Given the description of an element on the screen output the (x, y) to click on. 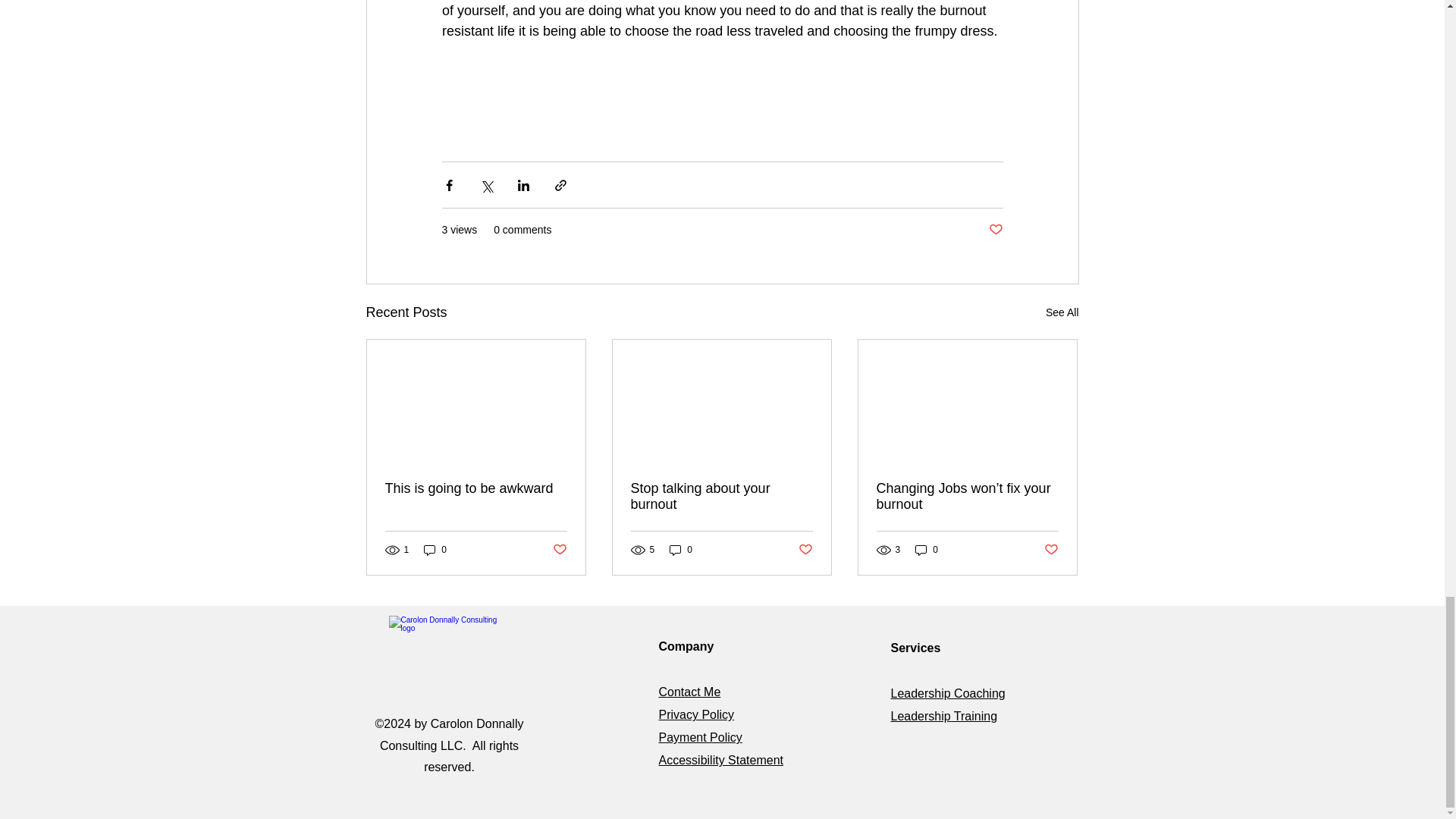
Leadership Training (943, 716)
0 (926, 549)
0 (435, 549)
Privacy Policy (695, 714)
Leadership Coaching (946, 693)
Post not marked as liked (558, 549)
0 (681, 549)
Contact Me (689, 691)
Payment Policy (699, 737)
Post not marked as liked (995, 229)
See All (1061, 312)
Stop talking about your burnout (721, 496)
Post not marked as liked (804, 549)
This is going to be awkward (476, 488)
Post not marked as liked (1050, 549)
